Given the description of an element on the screen output the (x, y) to click on. 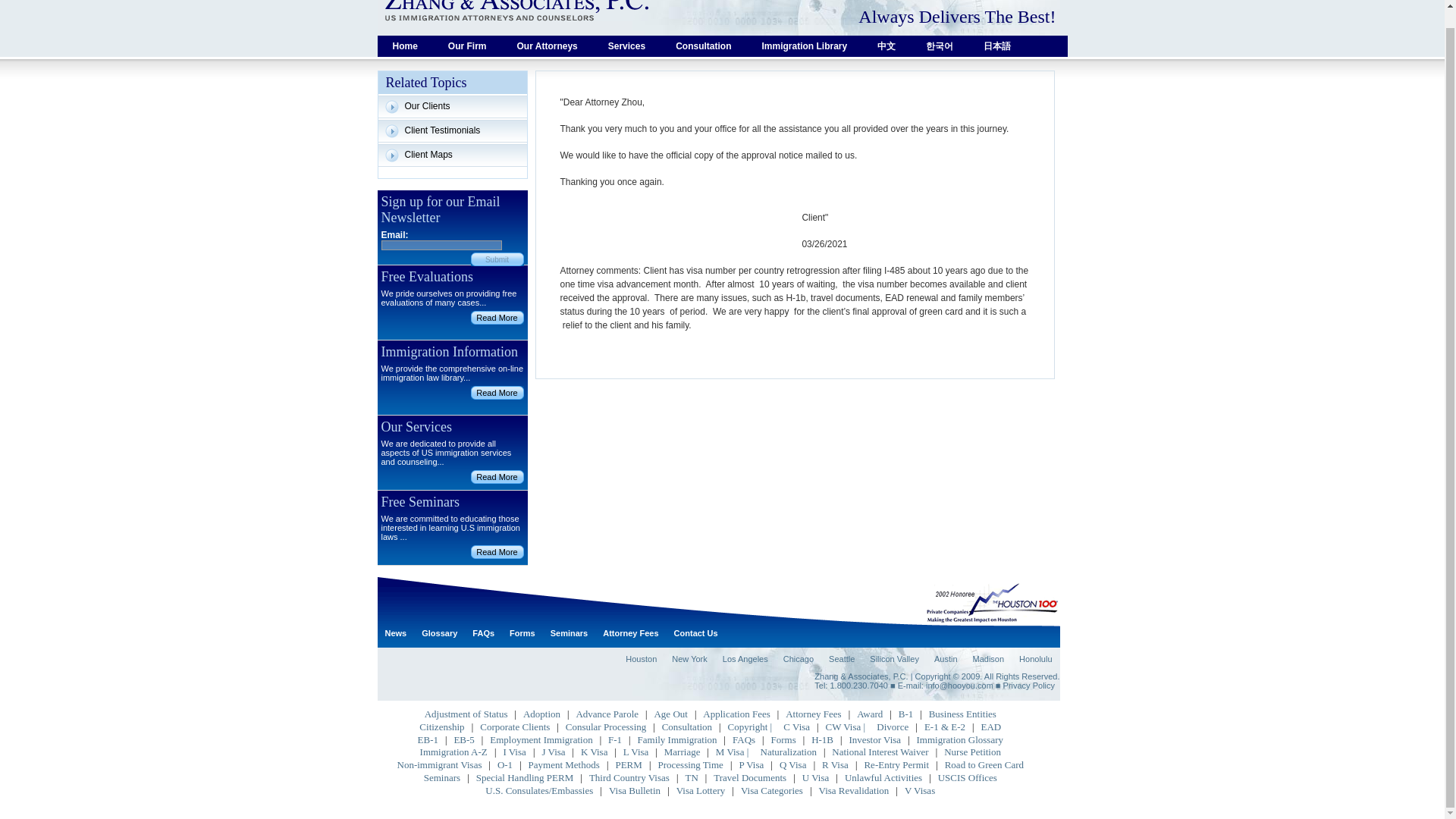
Home (404, 46)
Free Evaluations (496, 317)
Privacy Policy (1028, 685)
Madison (987, 658)
Immigration Information (496, 392)
Immigration Service Counseling (703, 46)
Our Client Testimonials (451, 105)
Austin (945, 658)
Chinese Version Immigration Library (886, 46)
Seminars (569, 633)
Immigration Services (626, 46)
Read More (496, 392)
Immigration Attorneys (547, 46)
Consultation (703, 46)
FAQs (483, 633)
